Given the description of an element on the screen output the (x, y) to click on. 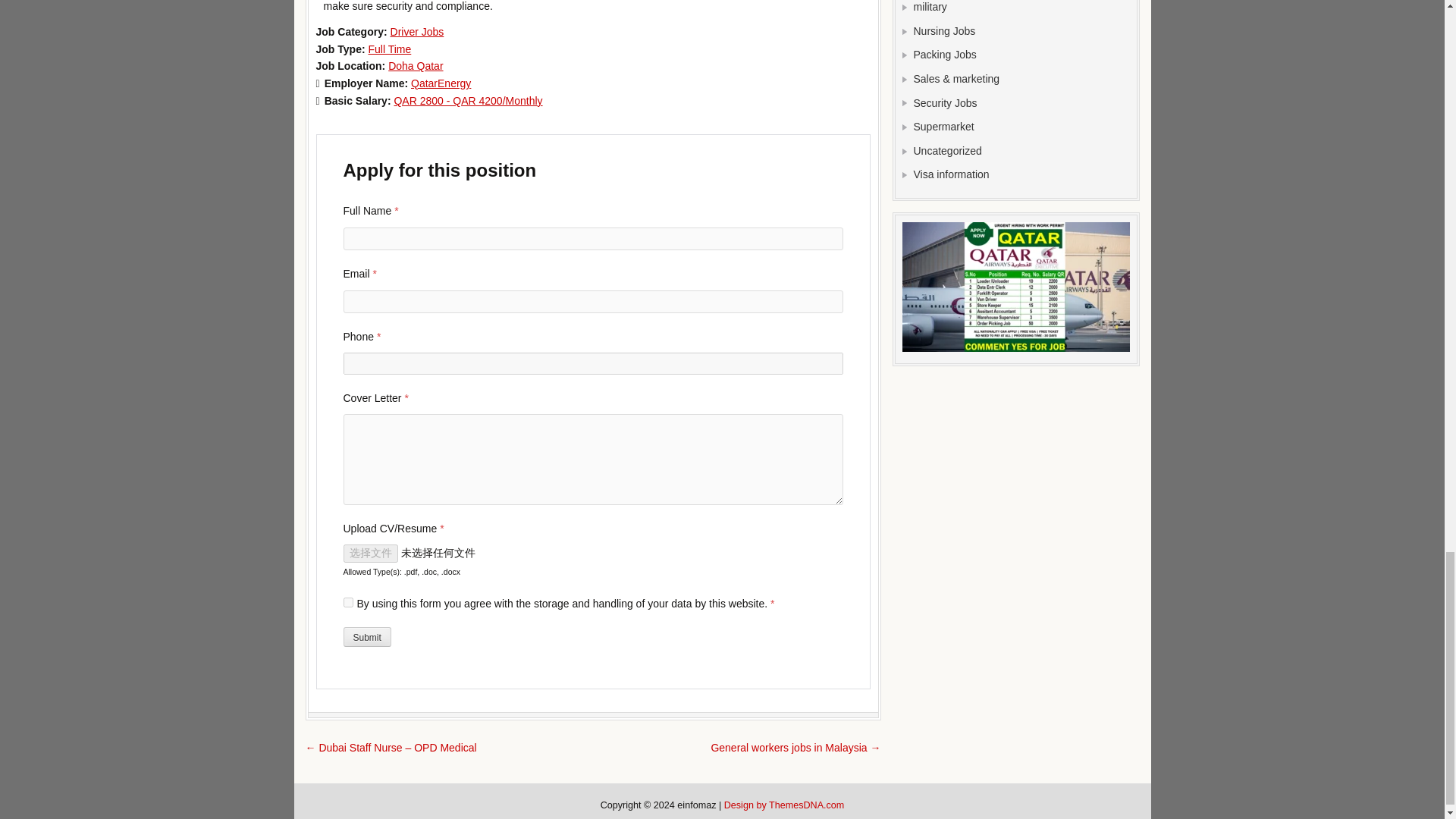
yes (347, 602)
Doha Qatar (415, 65)
Submit (366, 637)
Submit (366, 637)
Full Time (389, 49)
Driver Jobs (417, 31)
QatarEnergy (440, 82)
